Given the description of an element on the screen output the (x, y) to click on. 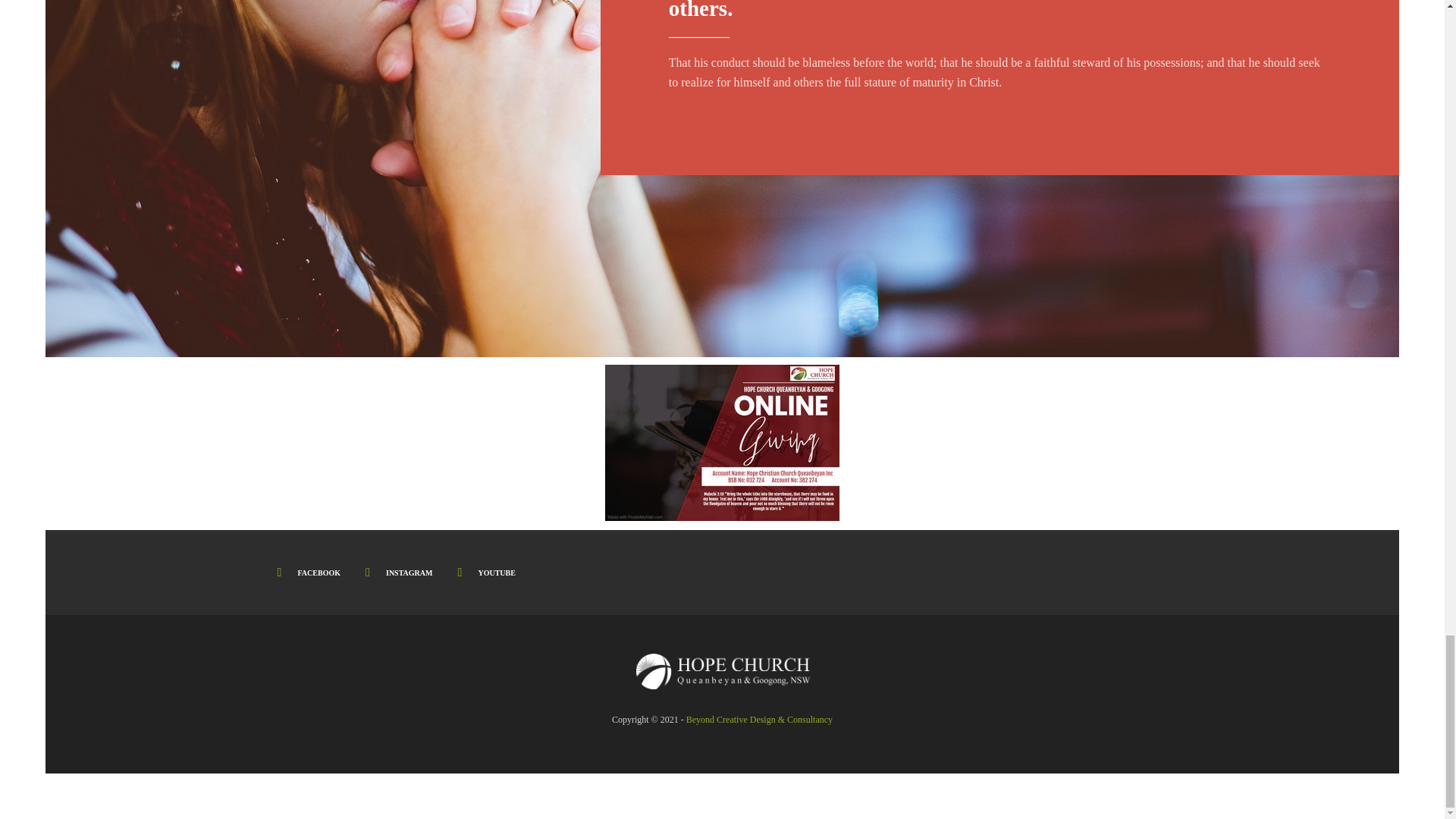
Facebook (306, 572)
INSTAGRAM (397, 572)
YouTube (484, 572)
Instagram (397, 572)
FACEBOOK (306, 572)
YOUTUBE (484, 572)
